Given the description of an element on the screen output the (x, y) to click on. 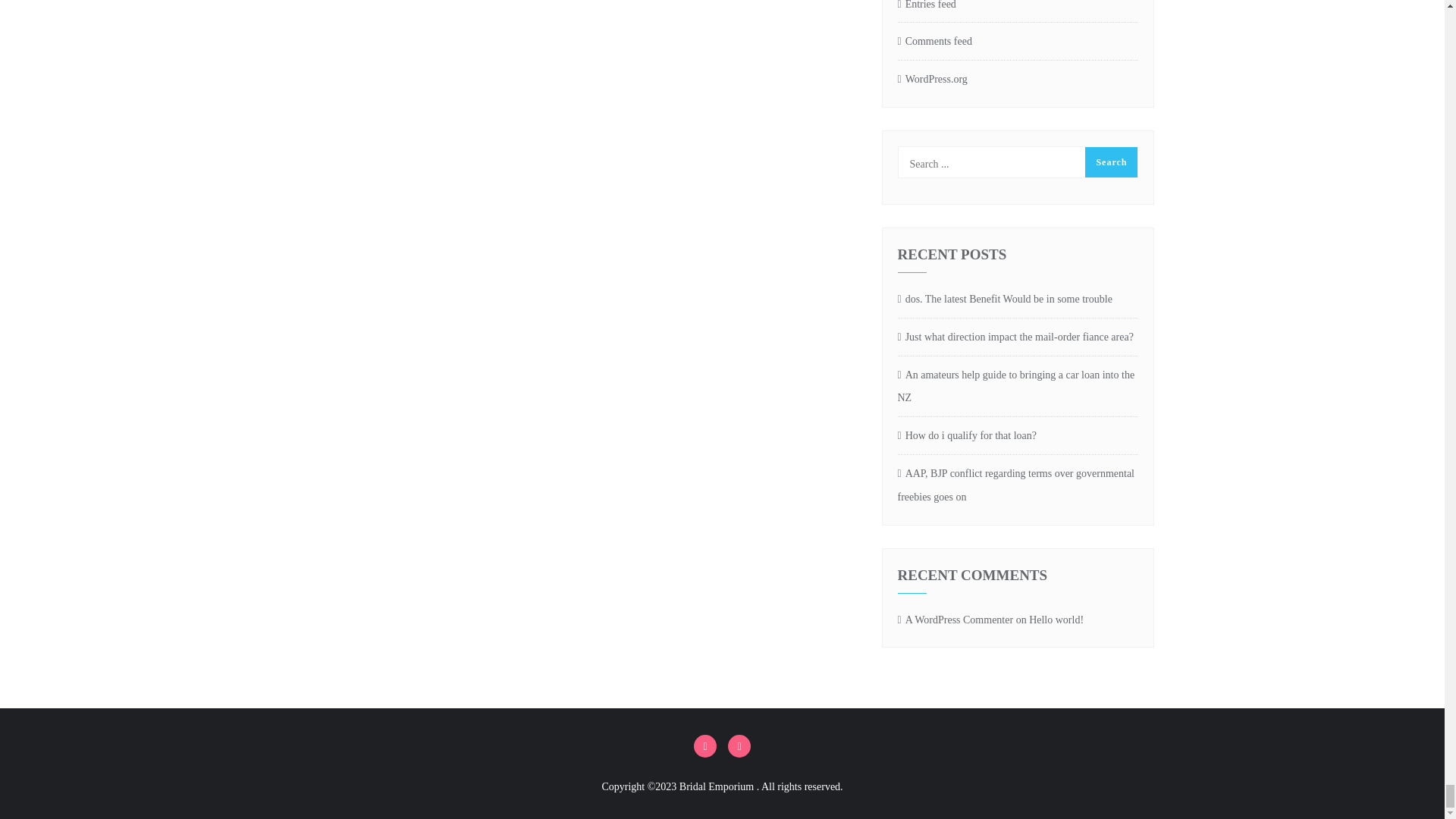
Search (1110, 162)
Search (1110, 162)
